Given the description of an element on the screen output the (x, y) to click on. 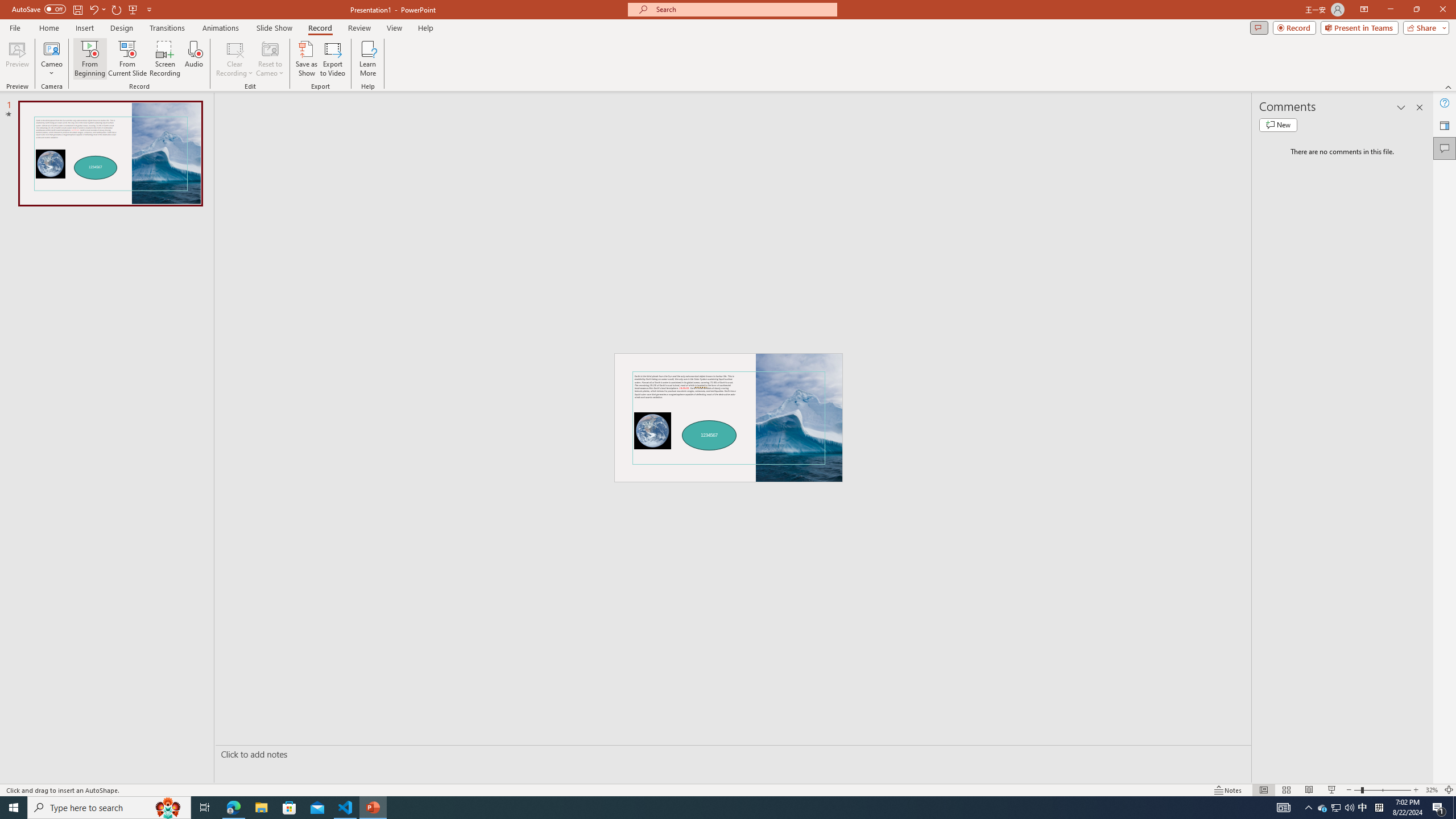
From Beginning... (89, 58)
Zoom 32% (1431, 790)
